Given the description of an element on the screen output the (x, y) to click on. 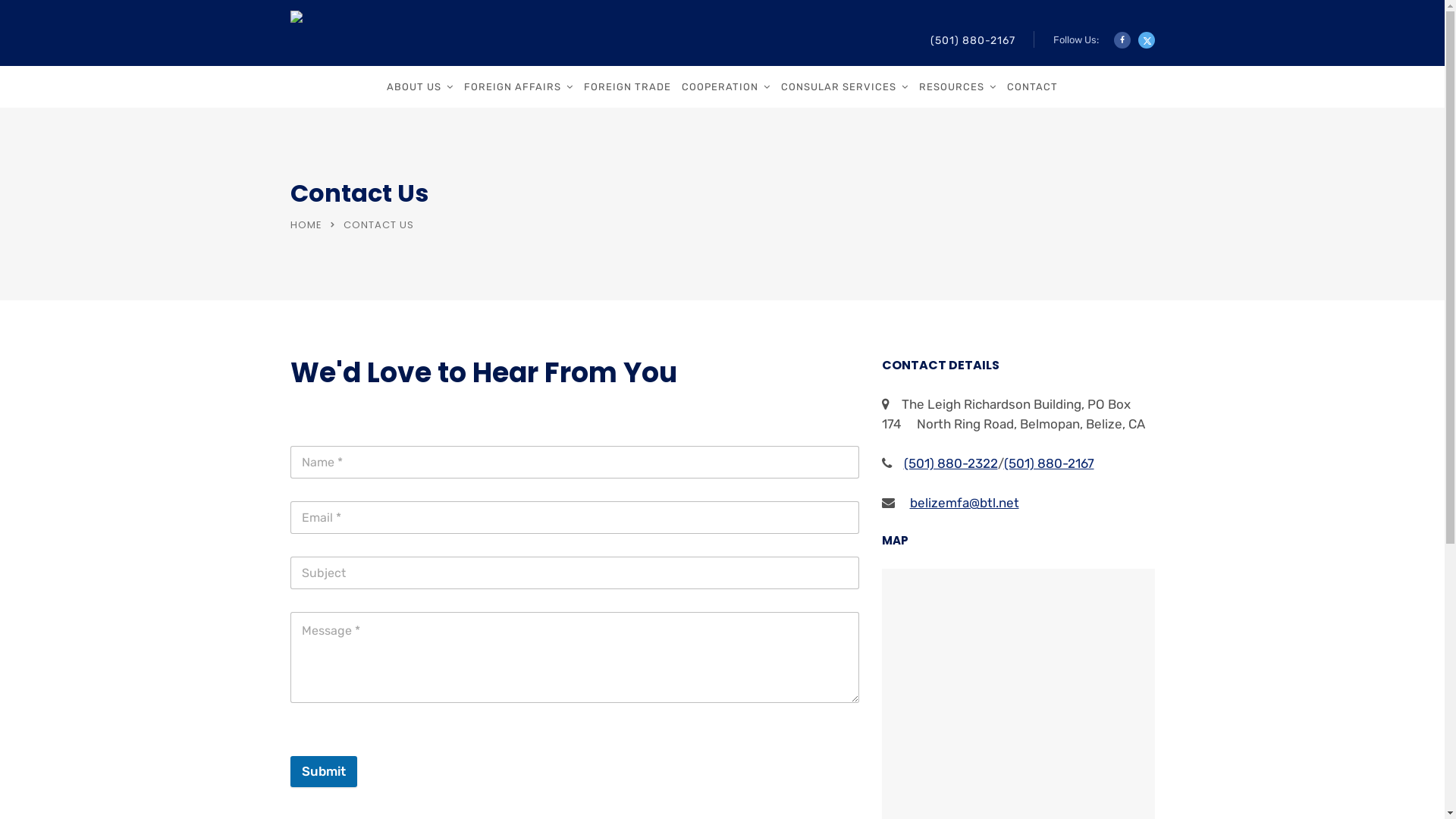
COOPERATION Element type: text (725, 86)
belizemfa@btl.net Element type: text (964, 502)
CONTACT Element type: text (1032, 86)
FOREIGN AFFAIRS Element type: text (518, 86)
ABOUT US Element type: text (419, 86)
(501) 880-2167 Element type: text (1049, 462)
(501) 880-2322 Element type: text (950, 462)
Submit Element type: text (322, 771)
FOREIGN TRADE Element type: text (627, 86)
CONSULAR SERVICES Element type: text (844, 86)
HOME Element type: text (305, 224)
(501) 880-2167 Element type: text (971, 40)
RESOURCES Element type: text (957, 86)
